Given the description of an element on the screen output the (x, y) to click on. 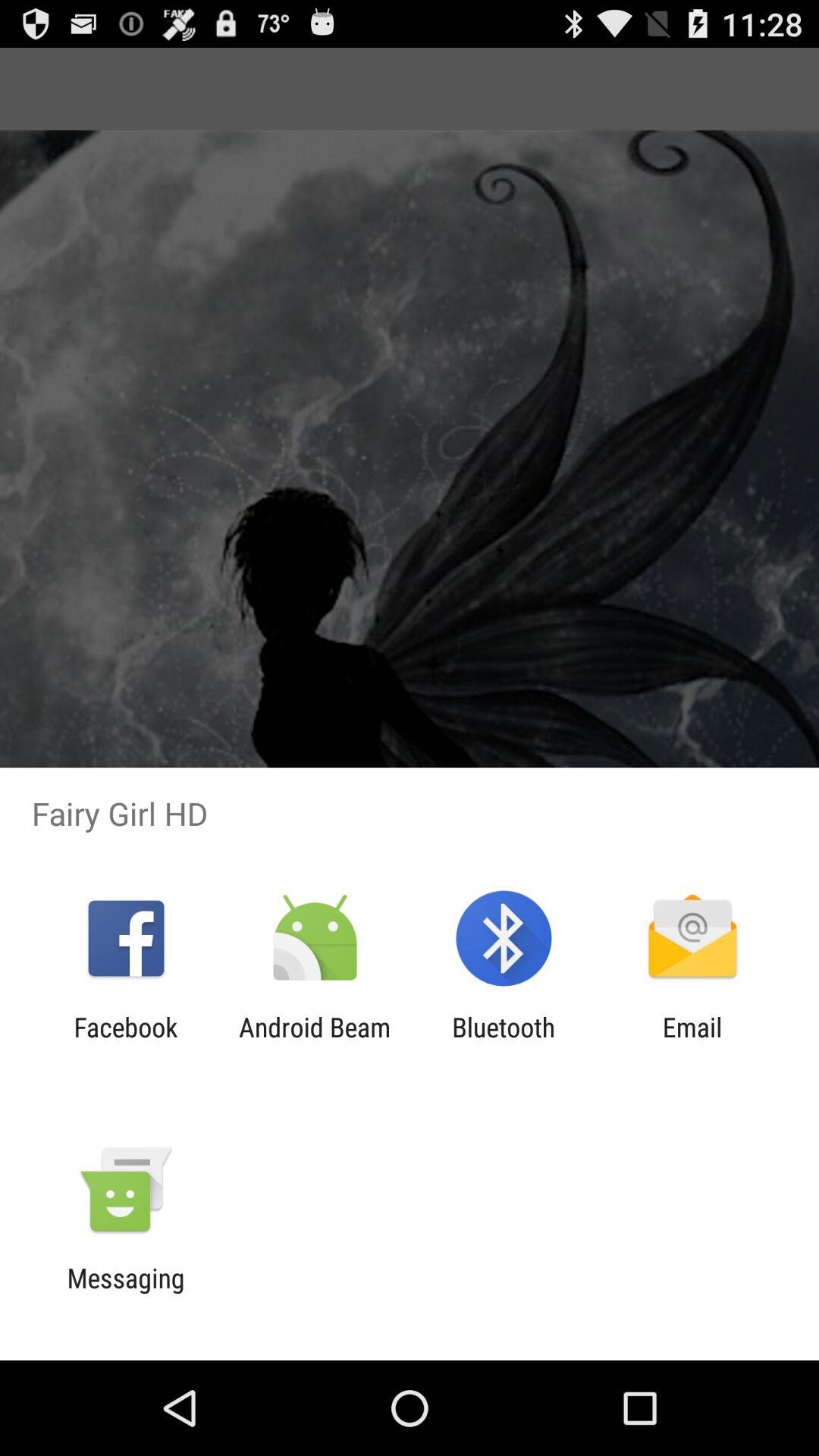
turn off app next to android beam app (503, 1042)
